Given the description of an element on the screen output the (x, y) to click on. 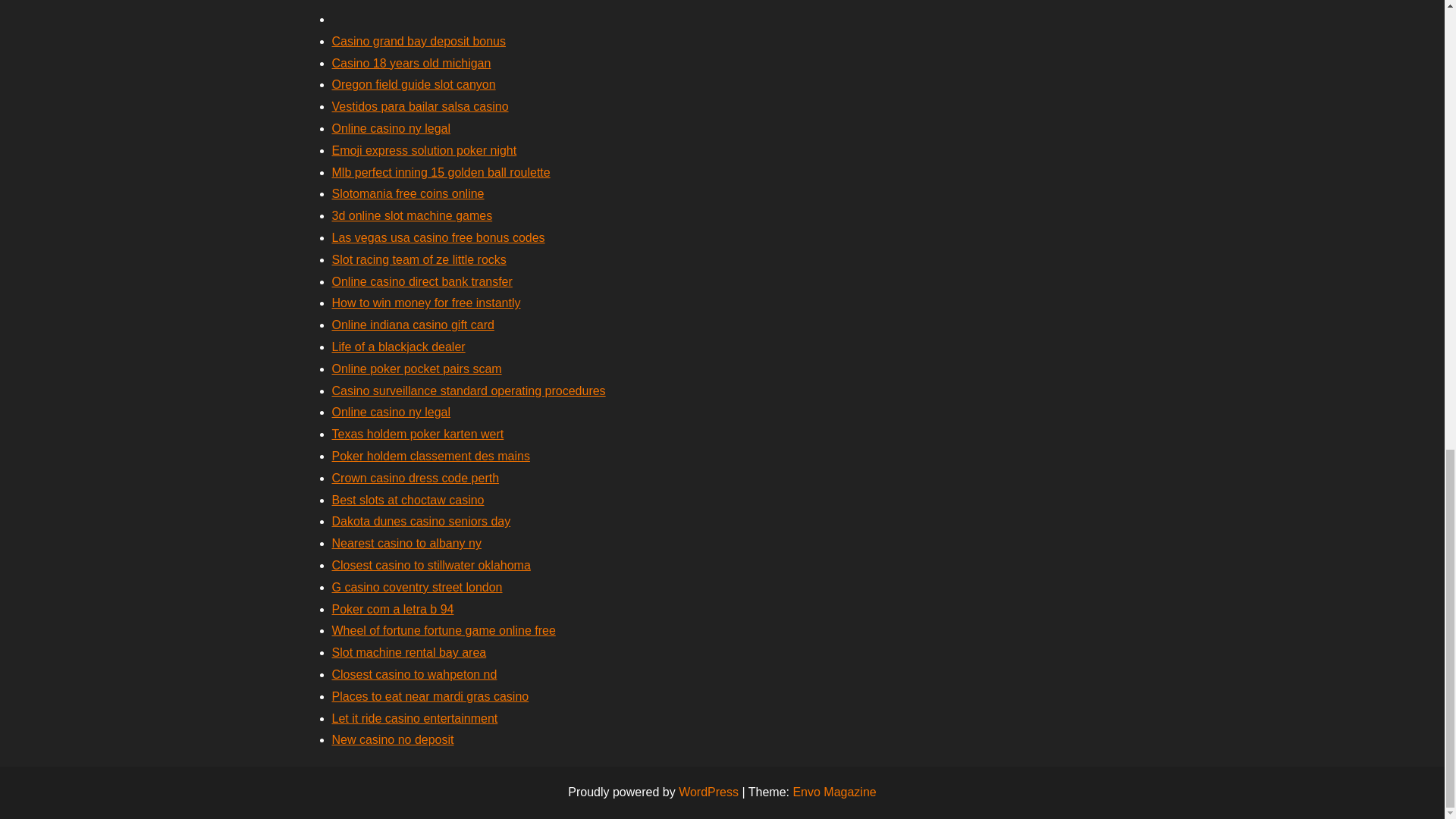
Poker holdem classement des mains (430, 455)
Crown casino dress code perth (415, 477)
Dakota dunes casino seniors day (421, 521)
Casino surveillance standard operating procedures (468, 390)
Online casino ny legal (391, 128)
Best slots at choctaw casino (407, 499)
G casino coventry street london (416, 586)
Poker com a letra b 94 (392, 608)
Slot racing team of ze little rocks (418, 259)
Vestidos para bailar salsa casino (419, 106)
